Given the description of an element on the screen output the (x, y) to click on. 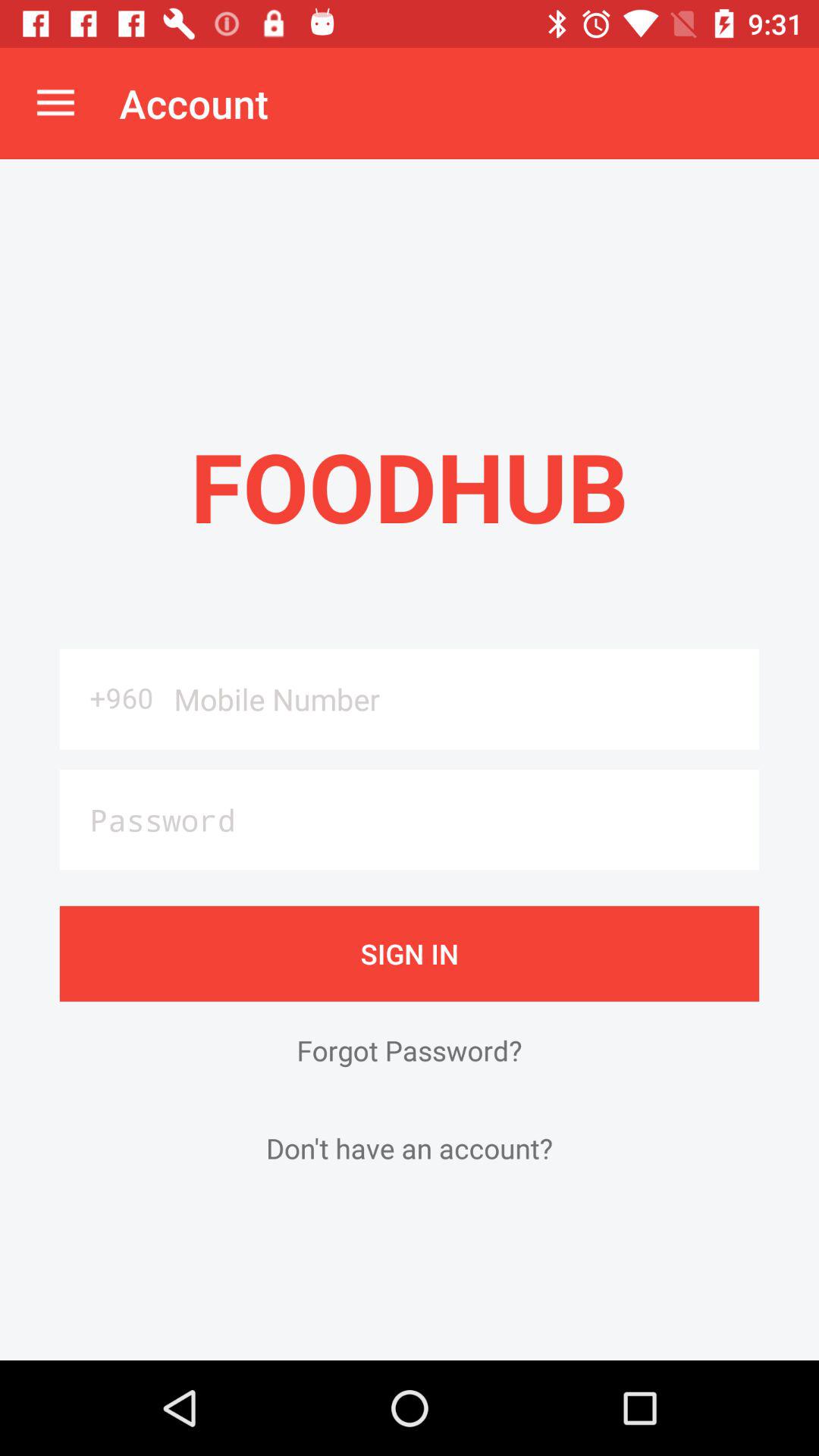
choose sign in item (409, 953)
